Given the description of an element on the screen output the (x, y) to click on. 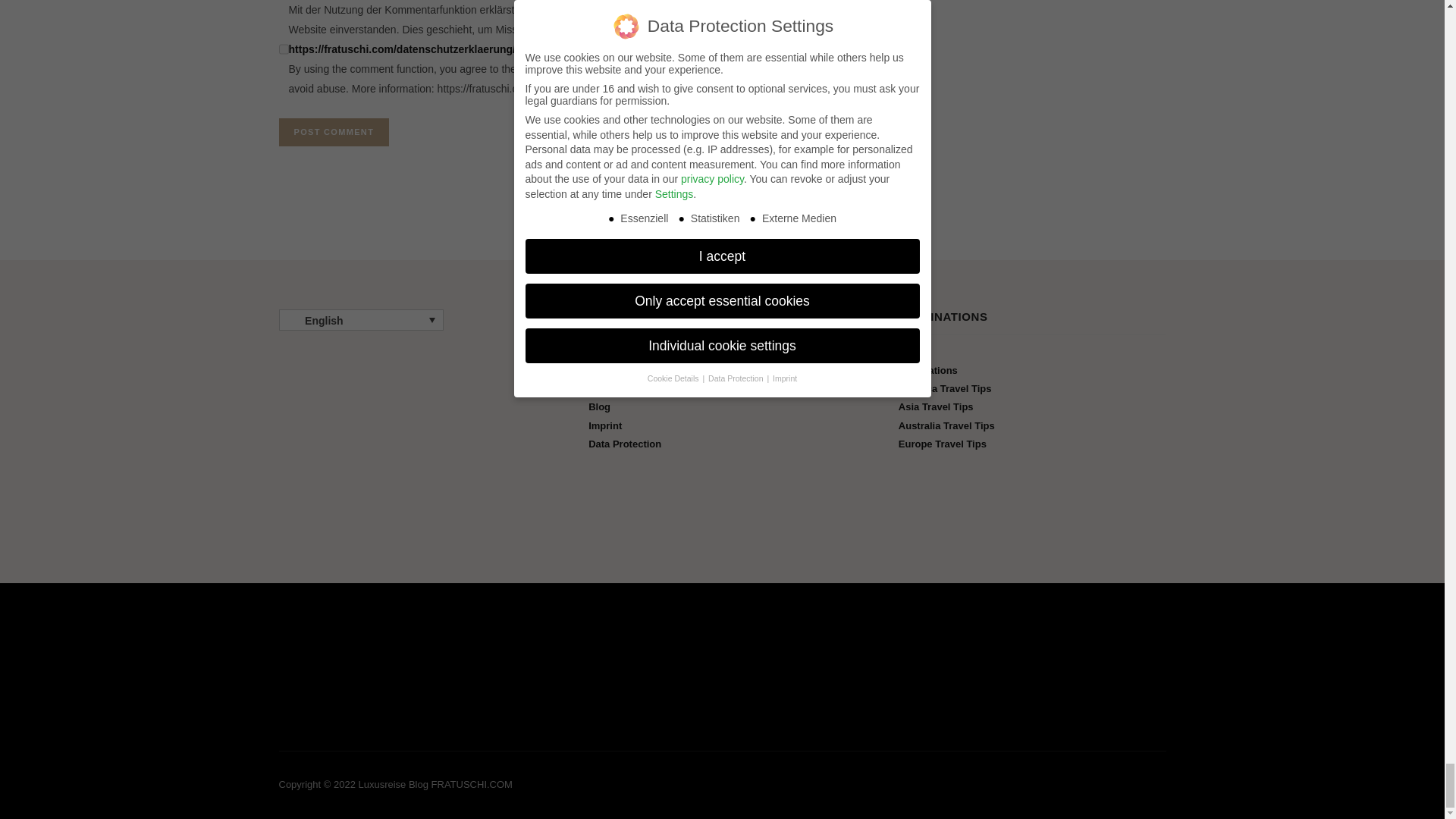
English (292, 320)
Post Comment (334, 131)
